Given the description of an element on the screen output the (x, y) to click on. 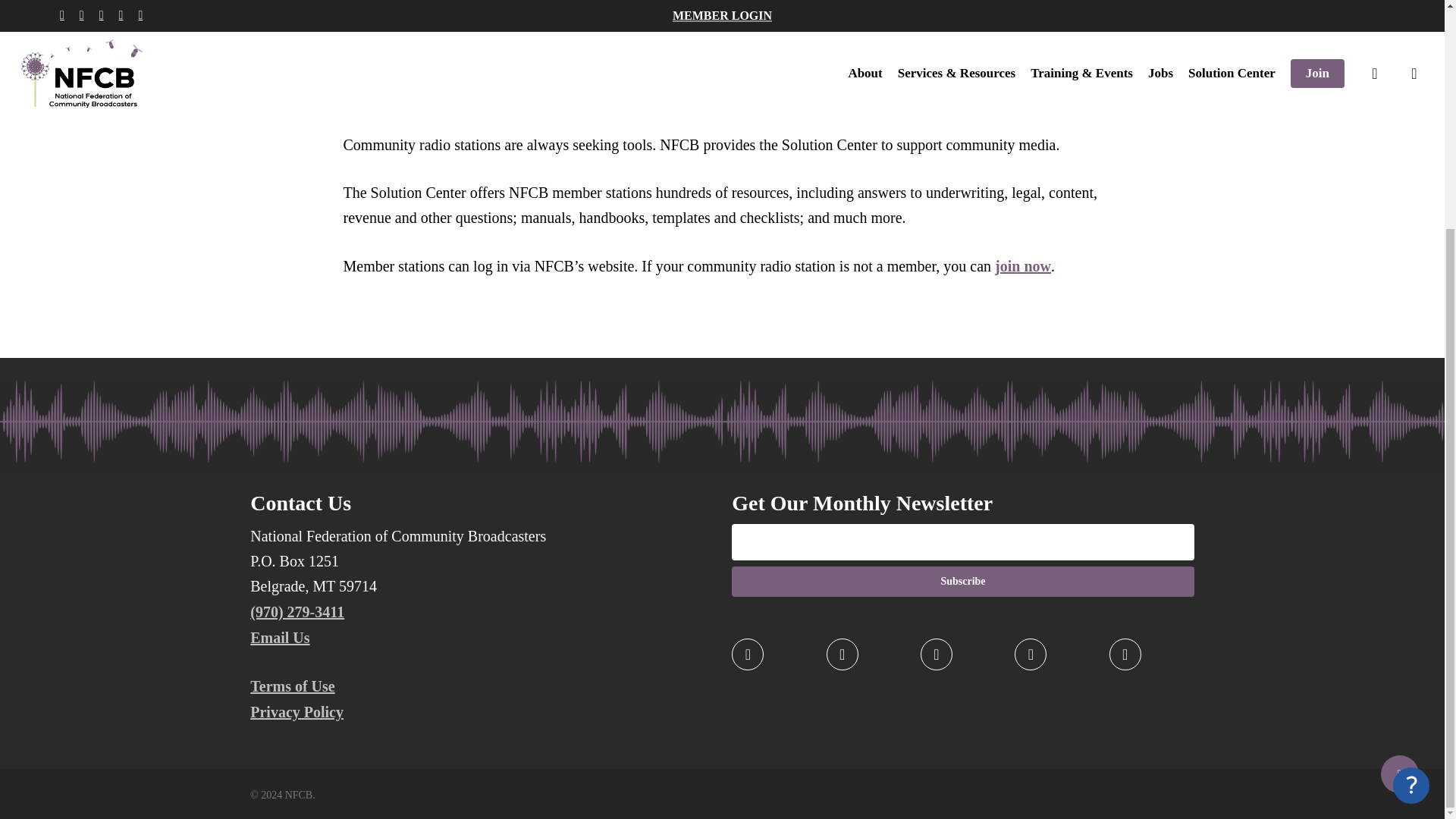
Subscribe (962, 581)
